Given the description of an element on the screen output the (x, y) to click on. 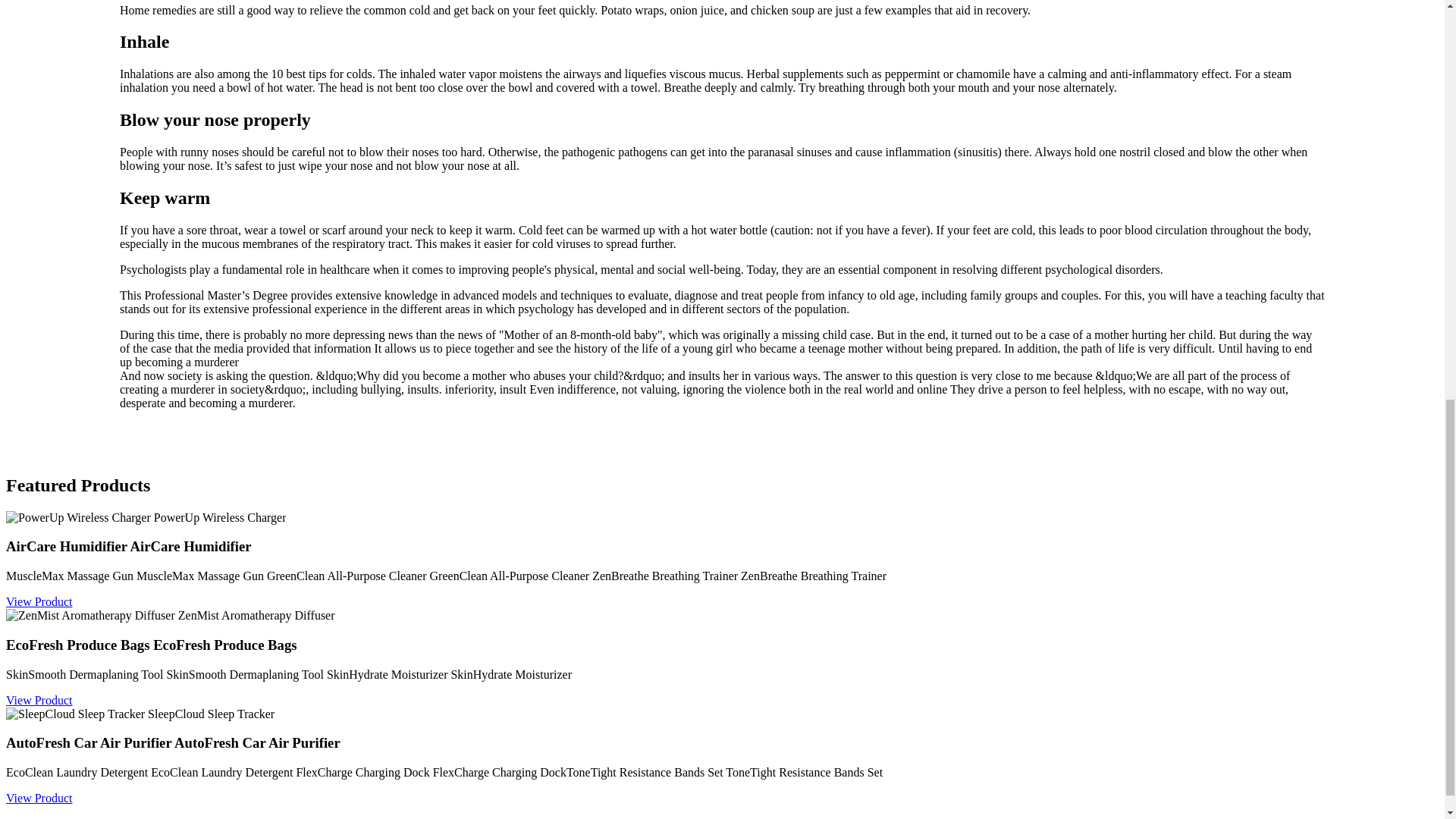
View Product (38, 699)
View Product (38, 601)
View Product (38, 797)
